Given the description of an element on the screen output the (x, y) to click on. 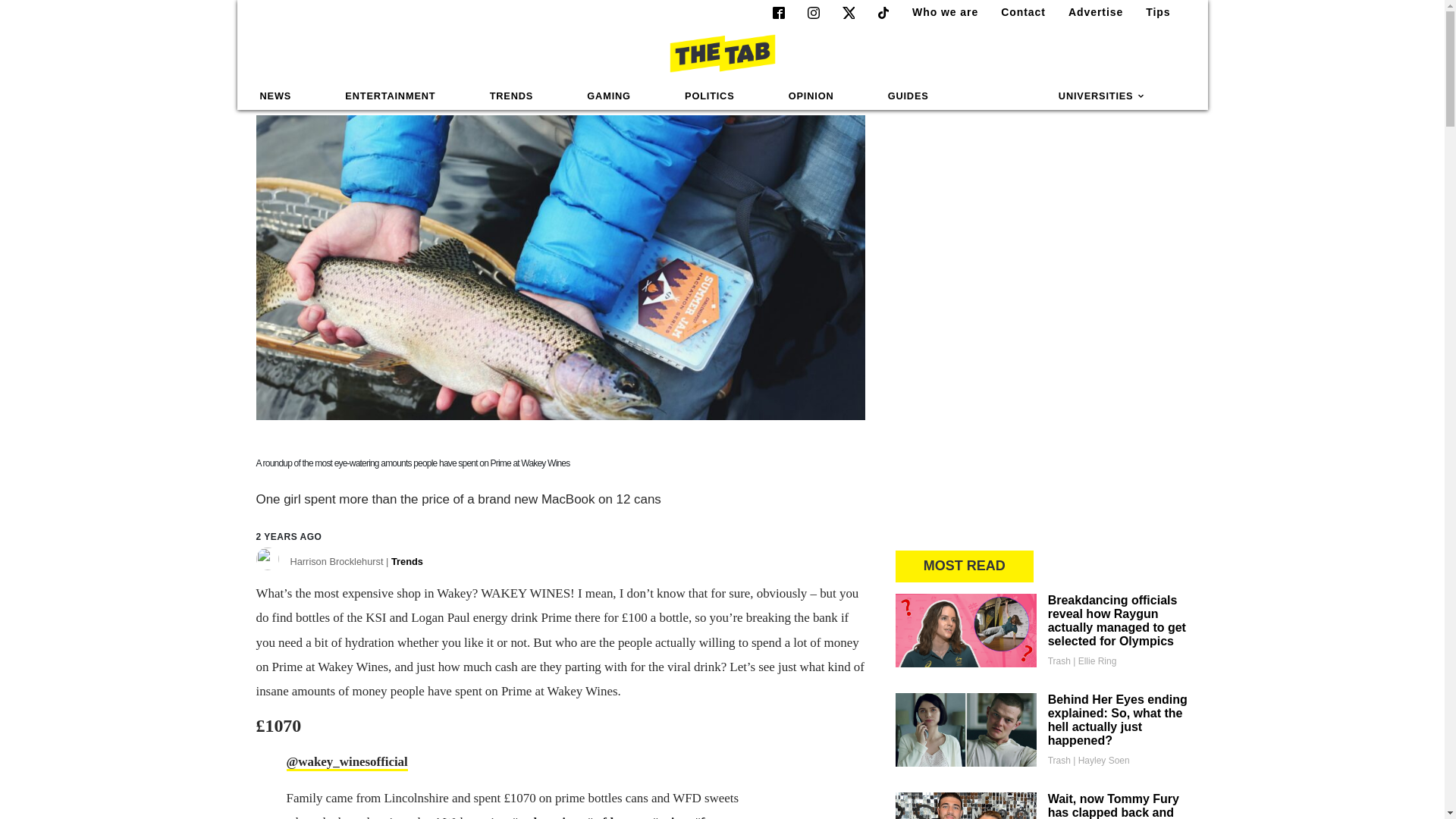
fyp (705, 816)
Who we are (938, 11)
Posts by Harrison Brocklehurst (355, 565)
Tips (1152, 11)
POLITICS (708, 96)
NEWS (275, 96)
Contact (1016, 11)
GAMING (608, 96)
prime (670, 816)
Advertise (1089, 11)
